Given the description of an element on the screen output the (x, y) to click on. 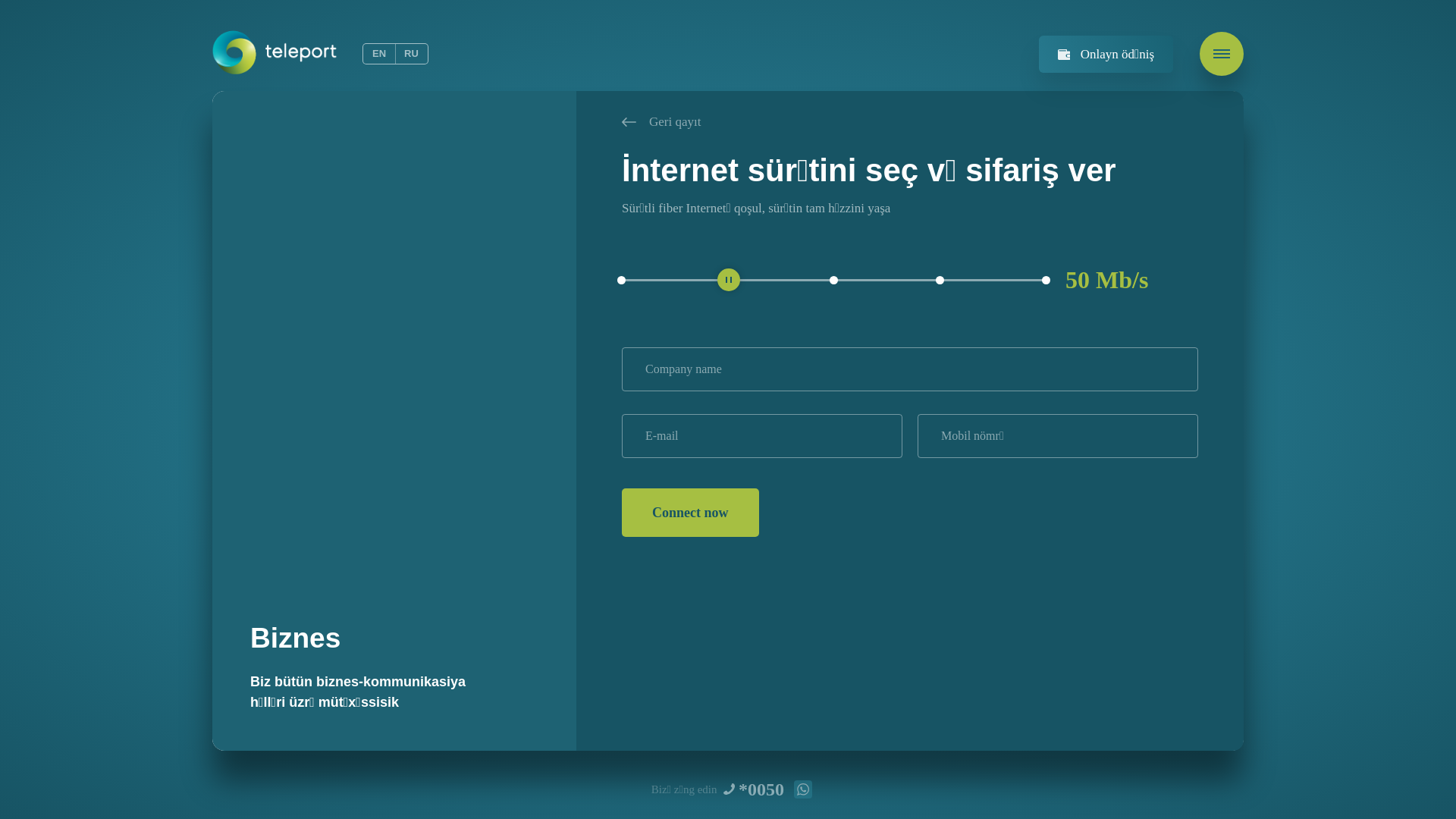
050 450 00 50 Element type: hover (802, 789)
EN Element type: text (379, 53)
*0050 Element type: text (761, 789)
Connect now Element type: text (690, 512)
RU Element type: text (411, 53)
